Given the description of an element on the screen output the (x, y) to click on. 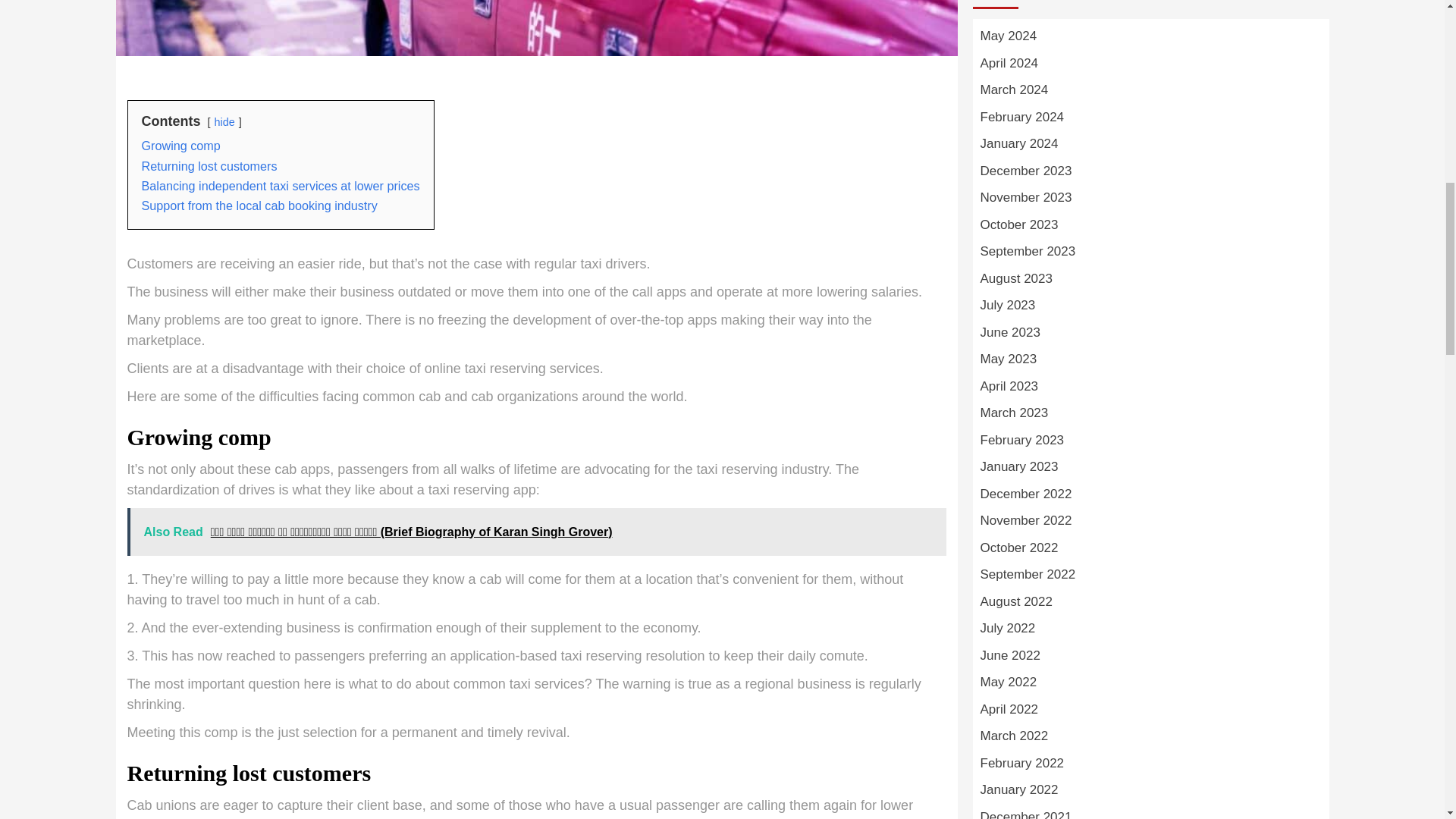
hide (224, 121)
Growing comp (180, 145)
Support from the local cab booking industry (259, 205)
Balancing independent taxi services at lower prices (280, 185)
Returning lost customers (208, 165)
